Given the description of an element on the screen output the (x, y) to click on. 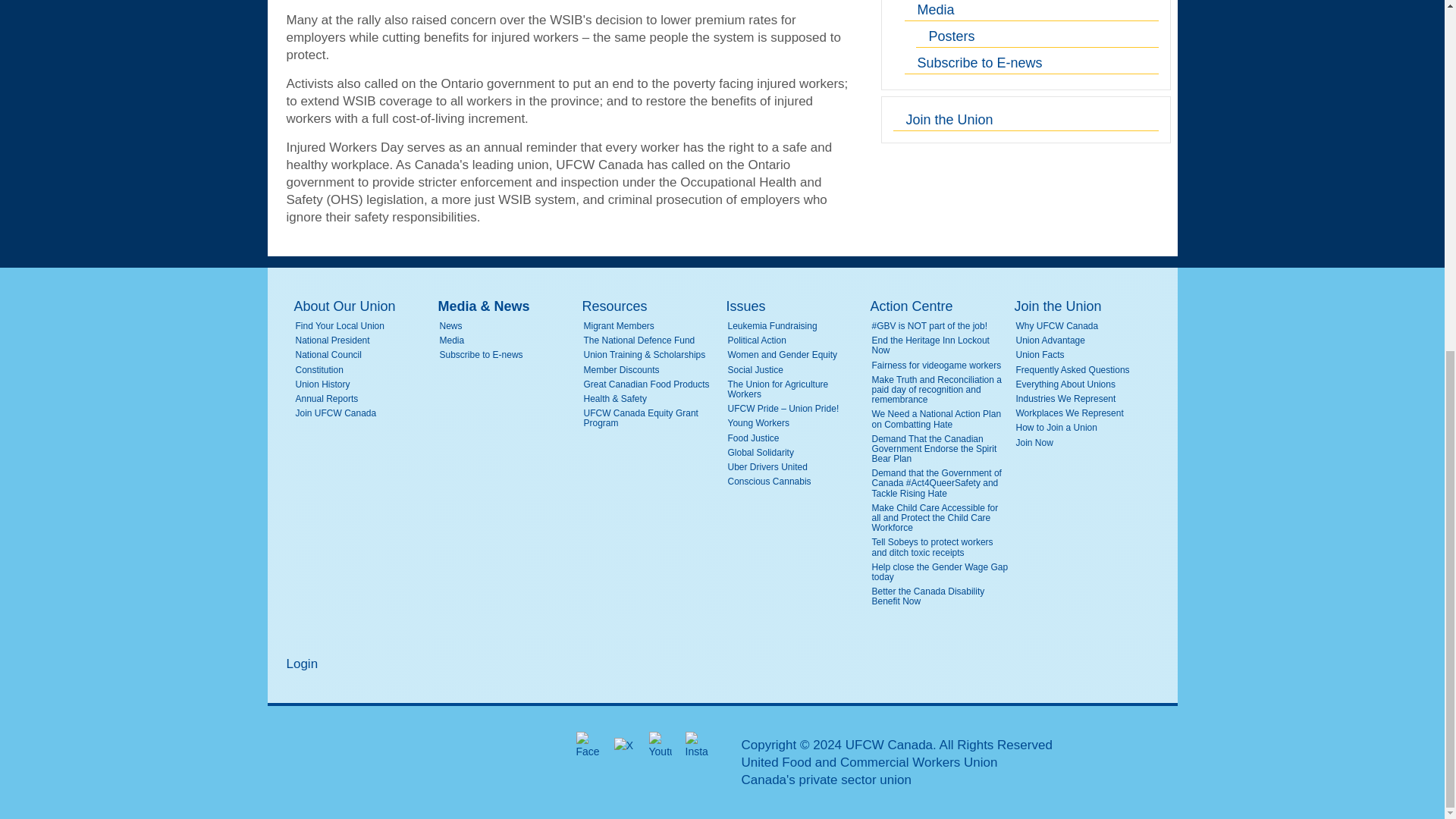
  Facebook (587, 745)
  Youtube2 (660, 745)
  X (623, 744)
